Given the description of an element on the screen output the (x, y) to click on. 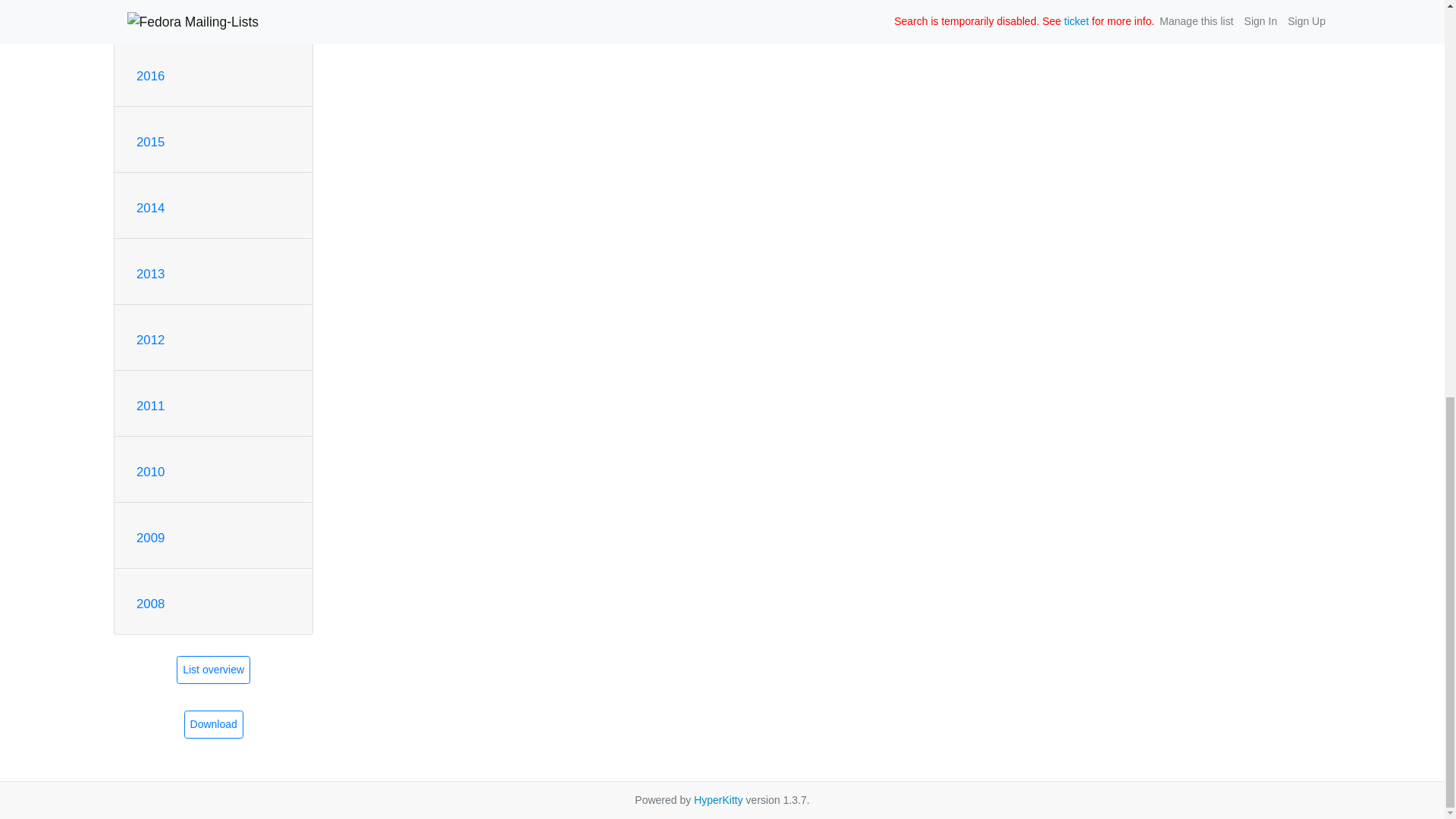
This month in gzipped mbox format (213, 724)
Update (890, 8)
